Given the description of an element on the screen output the (x, y) to click on. 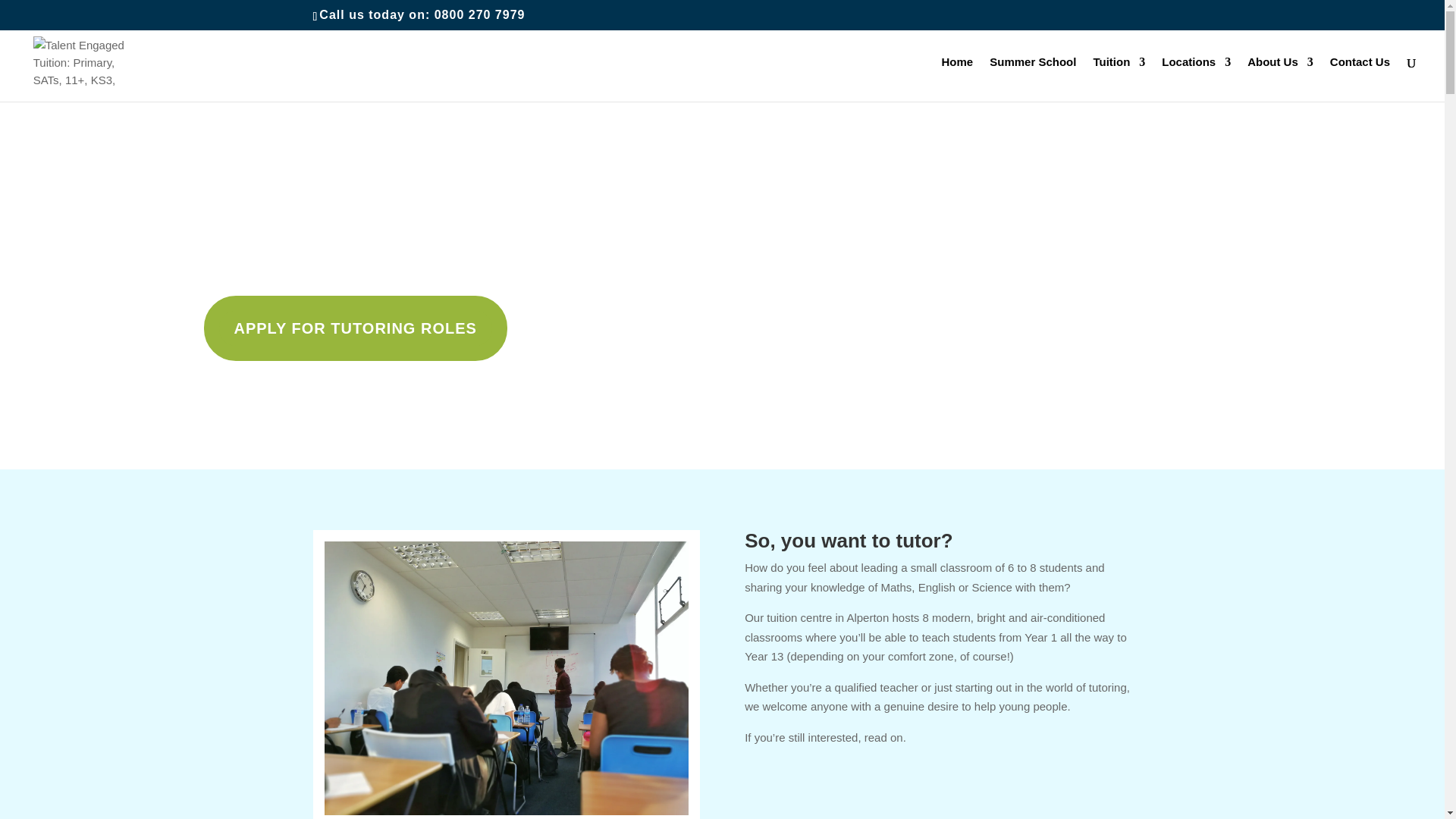
Call us today on: 0800 270 7979 (421, 14)
Contact Us (1360, 78)
APPLY FOR TUTORING ROLES (354, 328)
Summer School (1032, 78)
Home (958, 78)
Tuition (1118, 78)
About Us (1280, 78)
Locations (1195, 78)
